Given the description of an element on the screen output the (x, y) to click on. 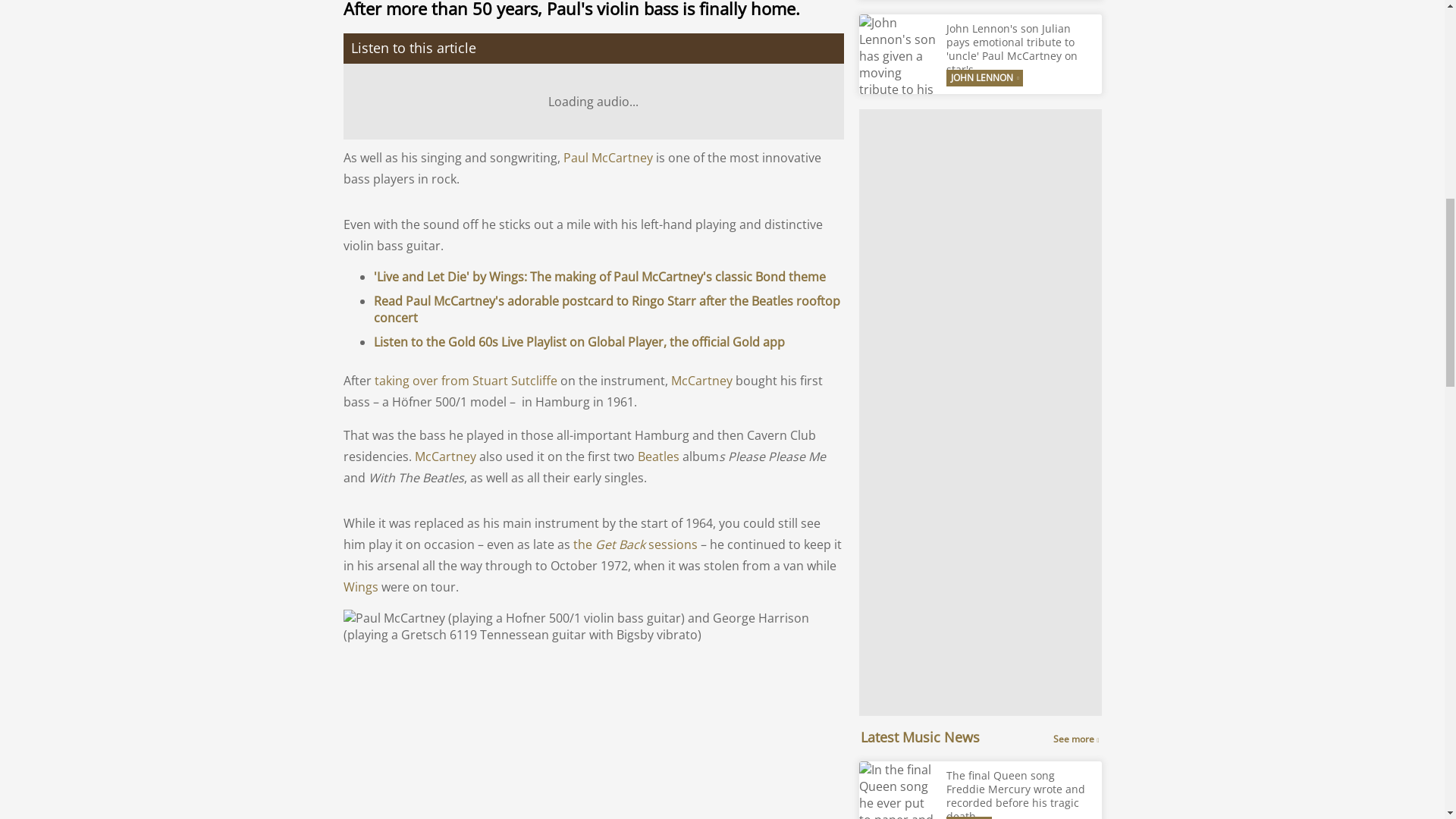
McCartney (444, 456)
McCartney (700, 380)
Wings (359, 586)
taking over from Stuart Sutcliffe (465, 380)
the Get Back sessions (636, 544)
Paul McCartney (607, 157)
Beatles (657, 456)
